Given the description of an element on the screen output the (x, y) to click on. 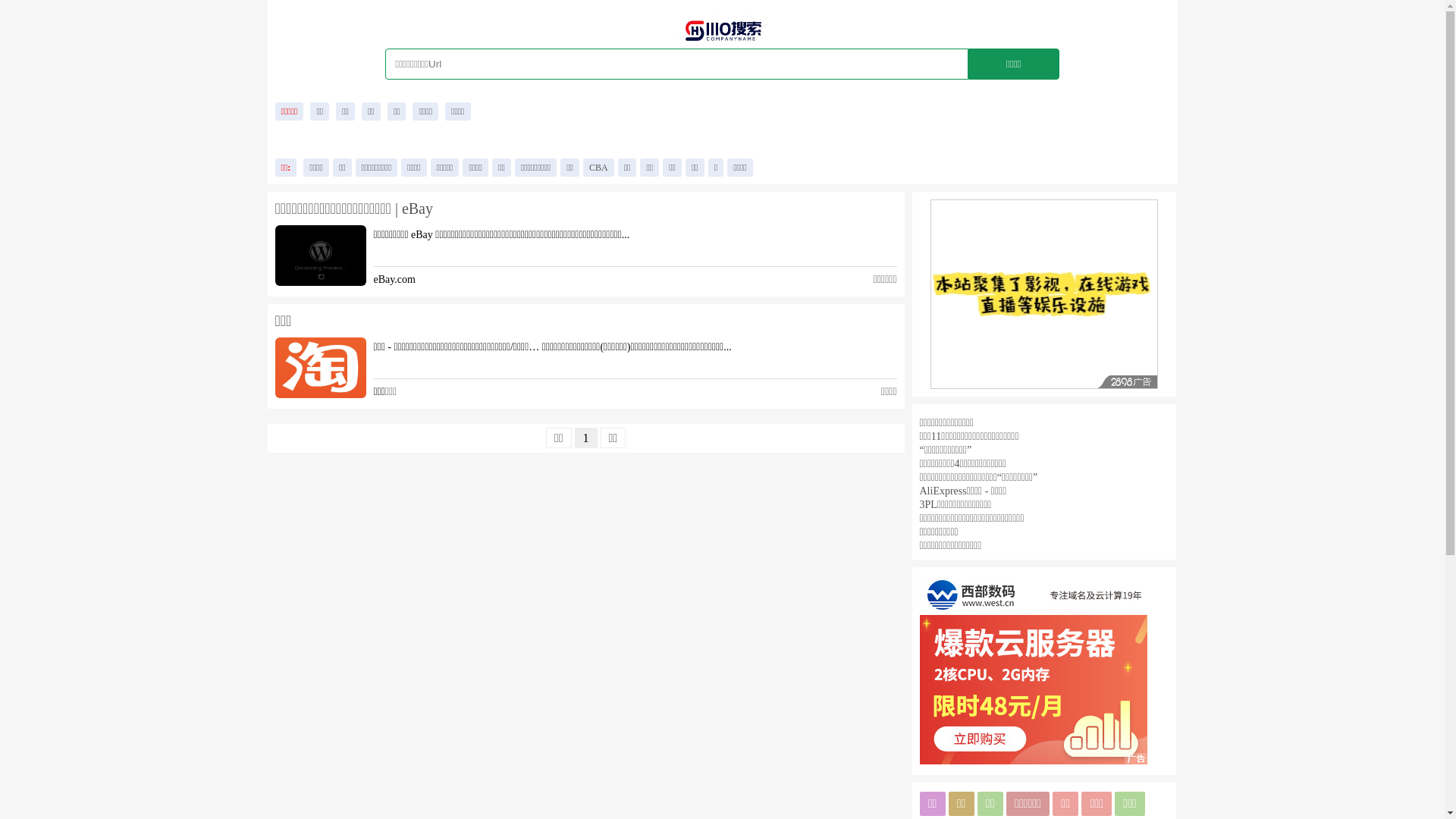
CBA Element type: text (598, 167)
